Given the description of an element on the screen output the (x, y) to click on. 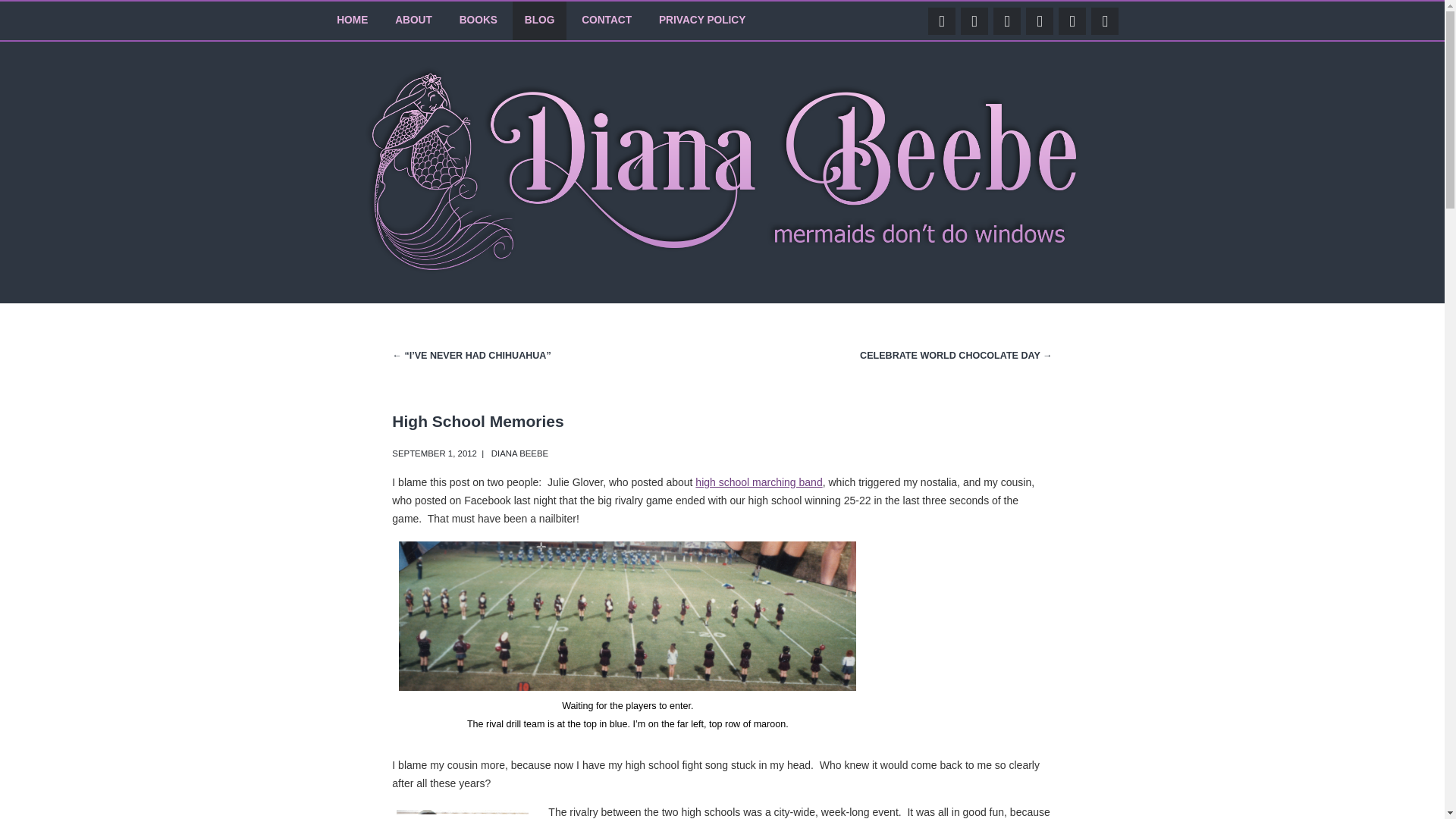
Diana Beebe, science fiction, middle grade fiction, fantasy (462, 814)
HOME (352, 20)
BLOG (539, 20)
high school marching band (758, 481)
Author Diana Beebe - Mermaids don't do windows (722, 269)
CONTACT (606, 20)
High School Memories by Diana Beebe (434, 452)
Diana Beebe, middle grade fiction, fantasy, science fiction (627, 615)
View all posts by Diana Beebe (520, 452)
SEPTEMBER 1, 2012 (434, 452)
